Given the description of an element on the screen output the (x, y) to click on. 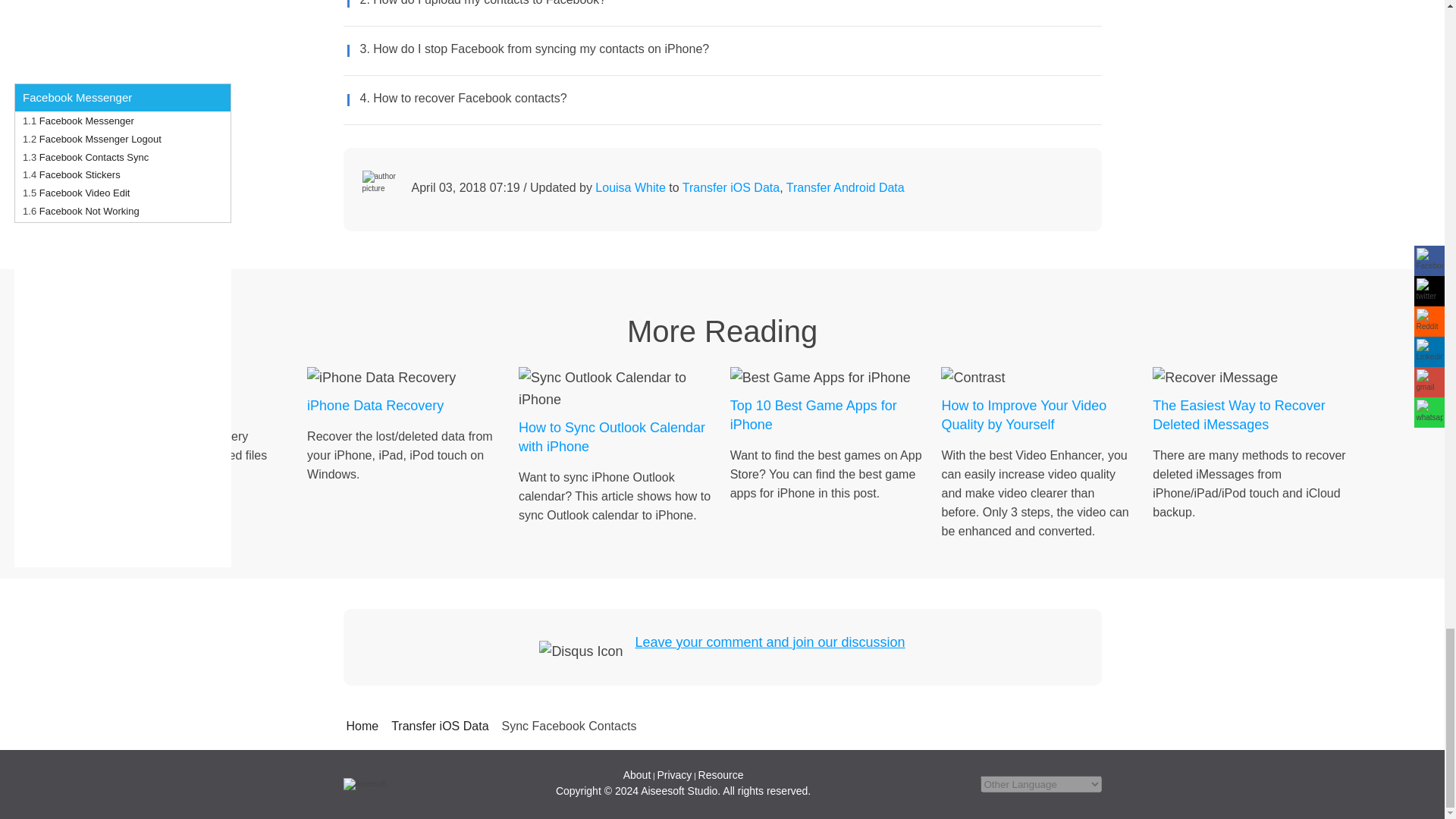
Transfer iOS Data (730, 187)
FoneLab for Android (192, 406)
Louisa White (630, 187)
iPhone Data Recovery (403, 406)
How to Sync Outlook Calendar with iPhone (614, 437)
Transfer Android Data (845, 187)
